Given the description of an element on the screen output the (x, y) to click on. 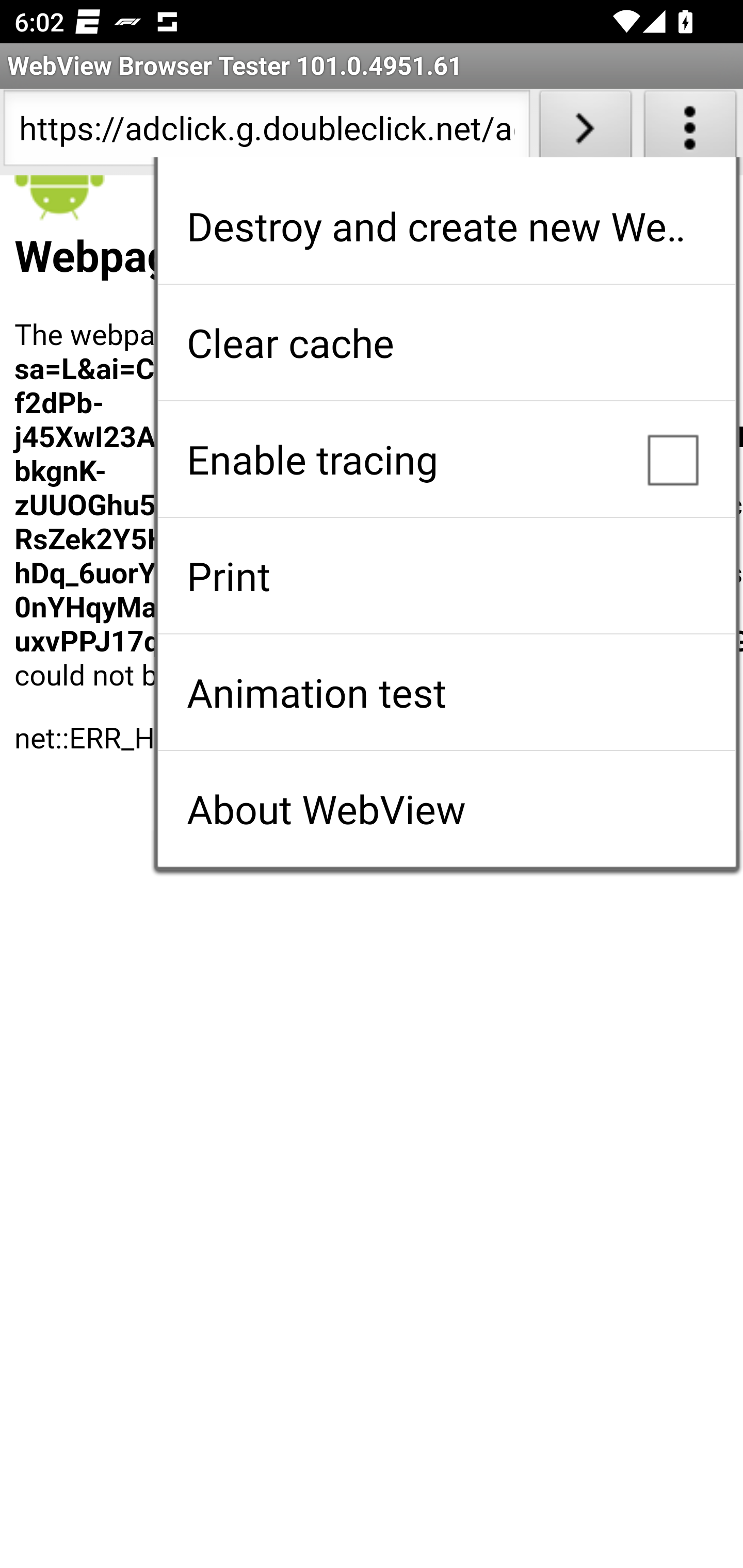
Destroy and create new WebView (446, 225)
Clear cache (446, 342)
Enable tracing (446, 459)
Print (446, 575)
Animation test (446, 692)
About WebView (446, 809)
